Given the description of an element on the screen output the (x, y) to click on. 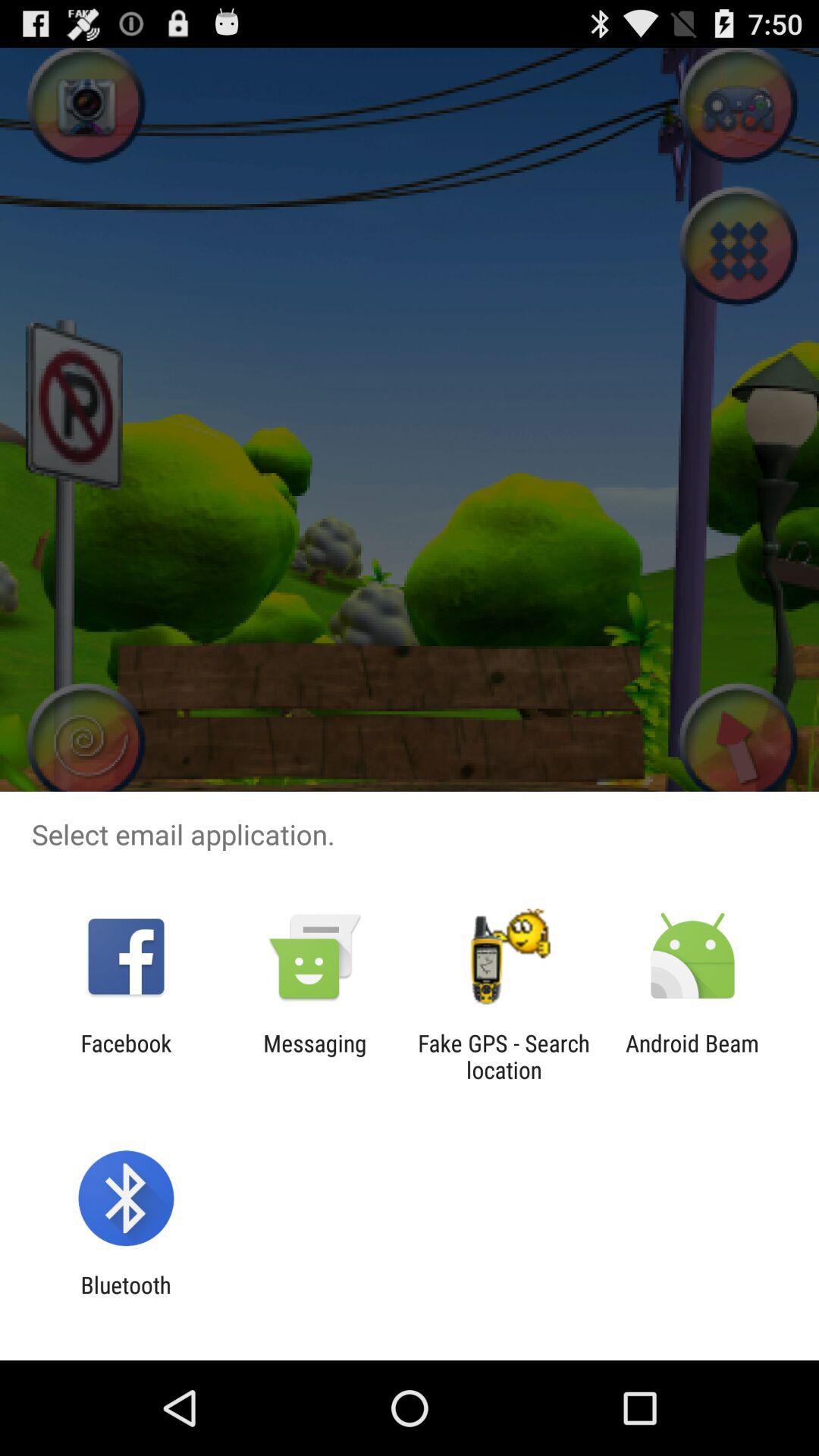
choose the icon next to the messaging (503, 1056)
